Given the description of an element on the screen output the (x, y) to click on. 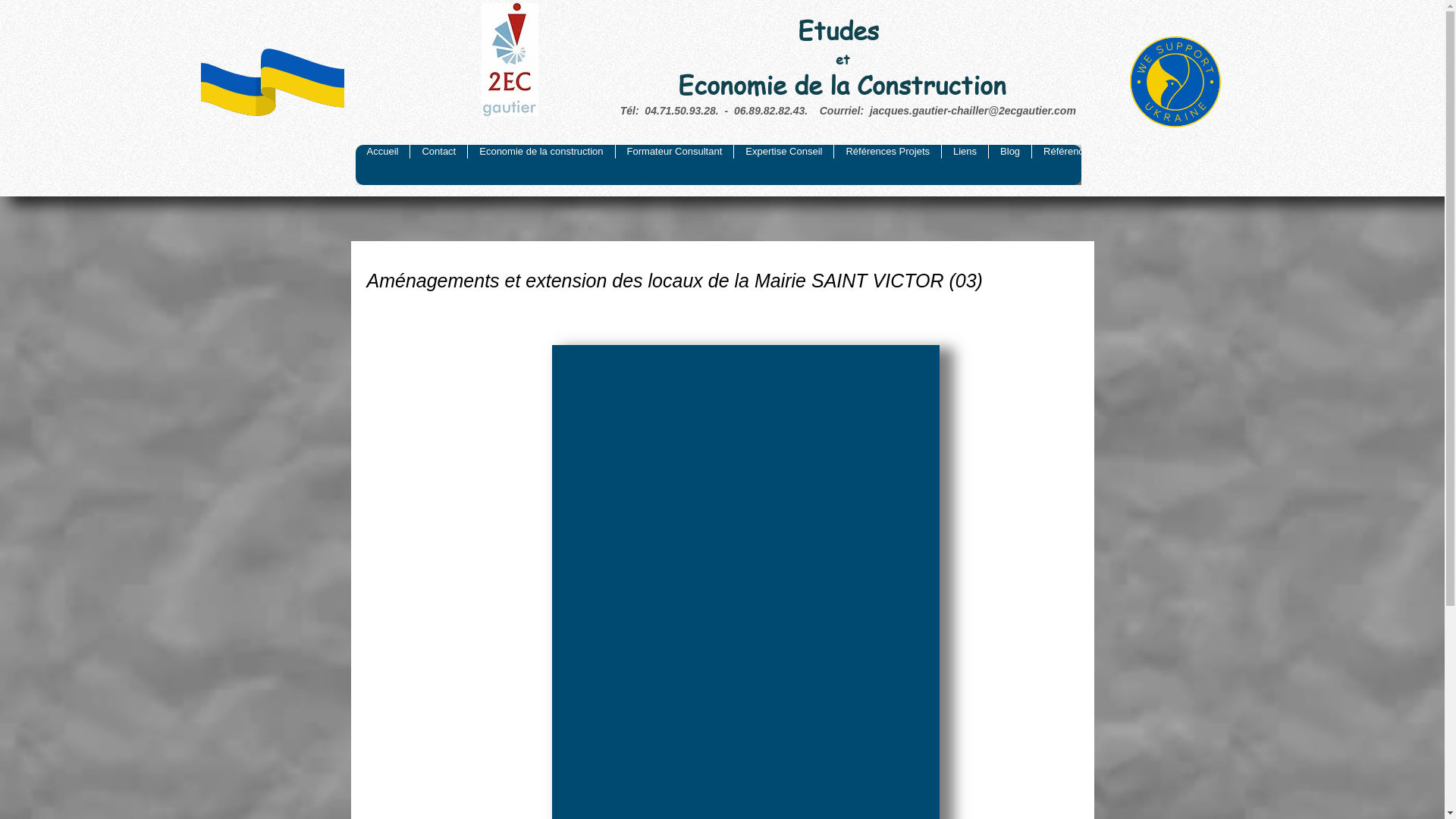
Accueil Element type: text (381, 164)
Liens Element type: text (964, 164)
Blog Element type: text (1009, 164)
jacques.gautier-chailler@2ecgautier.com Element type: text (972, 110)
Economie de la construction Element type: text (540, 164)
Contact Element type: text (438, 164)
Expertise Conseil Element type: text (783, 164)
Formateur Consultant Element type: text (674, 164)
